Given the description of an element on the screen output the (x, y) to click on. 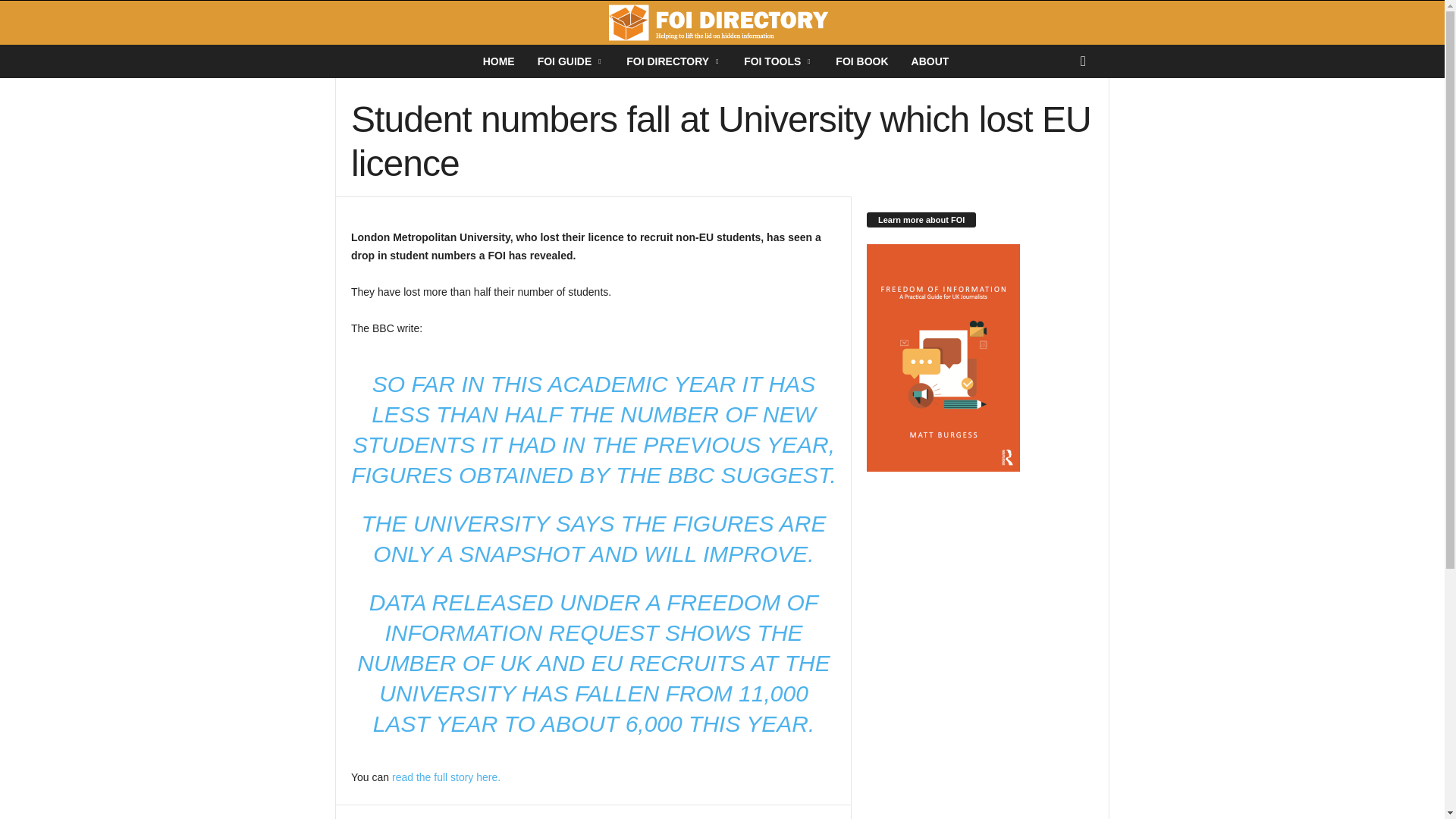
FOI GUIDE (570, 61)
HOME (498, 61)
